Given the description of an element on the screen output the (x, y) to click on. 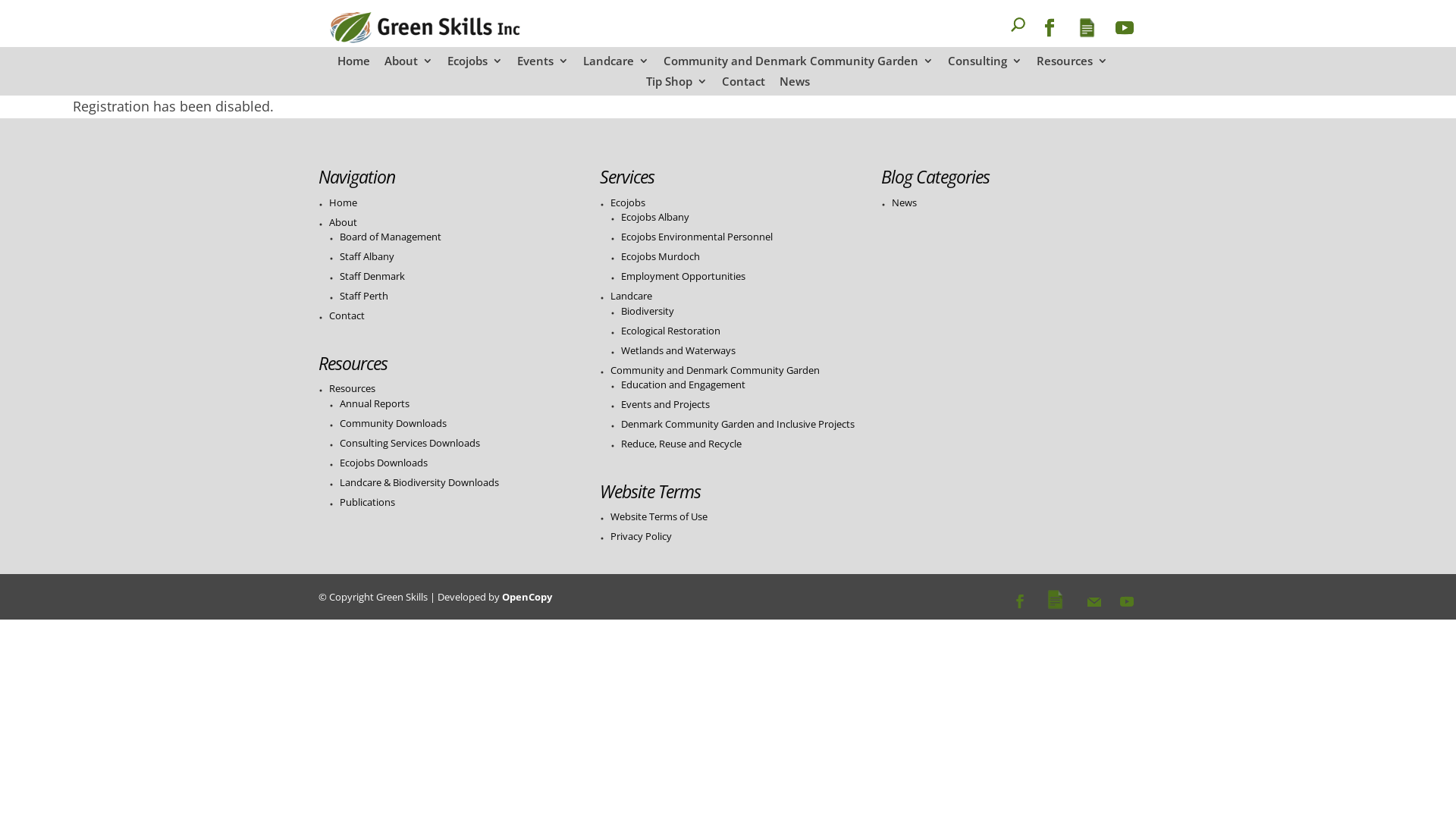
Contact Element type: text (346, 315)
Education and Engagement Element type: text (683, 384)
Home Element type: text (352, 65)
News Element type: text (903, 202)
Wetlands and Waterways Element type: text (678, 350)
Tip Shop Element type: text (676, 85)
OpenCopy Element type: text (527, 596)
Events Element type: text (542, 65)
Ecojobs Environmental Personnel Element type: text (696, 236)
Publications Element type: text (367, 501)
Consulting Services Downloads Element type: text (409, 442)
Landcare Element type: text (631, 295)
Staff Denmark Element type: text (371, 275)
Contact Element type: text (743, 85)
Resources Element type: text (352, 388)
Community and Denmark Community Garden Element type: text (714, 369)
Denmark Community Garden and Inclusive Projects Element type: text (737, 423)
Ecological Restoration Element type: text (670, 330)
Ecojobs Element type: text (627, 202)
Home Element type: text (343, 202)
  Element type: text (992, 32)
About Element type: text (343, 222)
Reduce, Reuse and Recycle Element type: text (681, 443)
Ecojobs Element type: text (474, 65)
Board of Management Element type: text (390, 236)
Staff Albany Element type: text (366, 256)
Staff Perth Element type: text (363, 295)
Biodiversity Element type: text (647, 310)
Events and Projects Element type: text (665, 404)
Privacy Policy Element type: text (640, 535)
Employment Opportunities Element type: text (683, 275)
Consulting Element type: text (984, 65)
Website Terms of Use Element type: text (658, 516)
Landcare Element type: text (615, 65)
Community and Denmark Community Garden Element type: text (797, 65)
Ecojobs Murdoch Element type: text (660, 256)
Ecojobs Albany Element type: text (655, 216)
Ecojobs Downloads Element type: text (383, 462)
Community Downloads Element type: text (392, 422)
Annual Reports Element type: text (374, 403)
Landcare & Biodiversity Downloads Element type: text (418, 482)
Resources Element type: text (1071, 65)
News Element type: text (794, 85)
About Element type: text (407, 65)
